Given the description of an element on the screen output the (x, y) to click on. 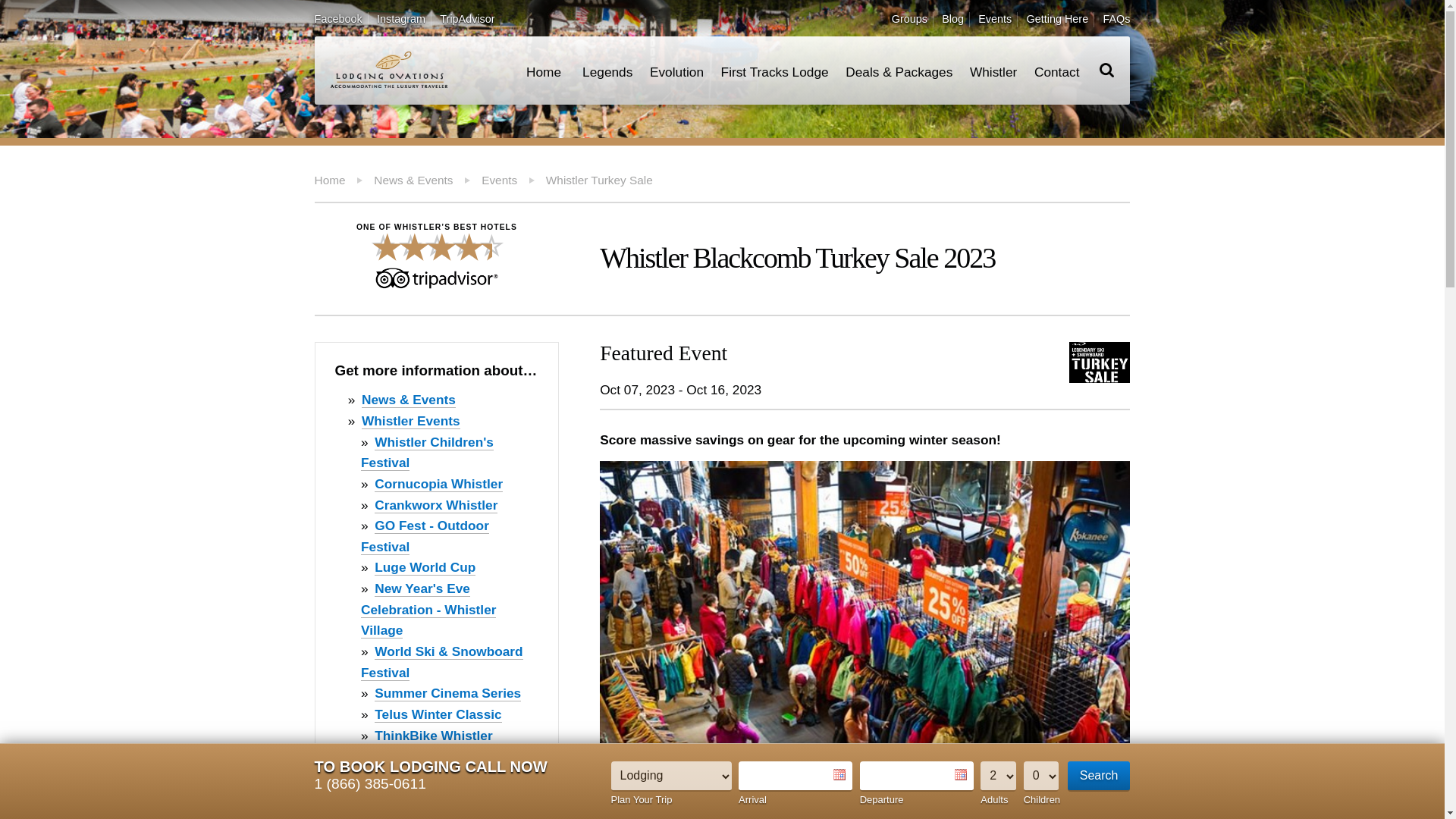
FAQs (1115, 19)
Events (994, 19)
Getting Here (1057, 19)
Select date (960, 774)
Search (1099, 776)
Select date (838, 774)
Facebook (338, 19)
TO BOOK LODGING CALL NOW (430, 766)
Search (1099, 776)
Instagram (401, 19)
TripAdvisor (467, 19)
Whistler TripAdvisor Review (436, 253)
Blog (952, 19)
First Tracks Lodge (774, 70)
Groups (909, 19)
